Given the description of an element on the screen output the (x, y) to click on. 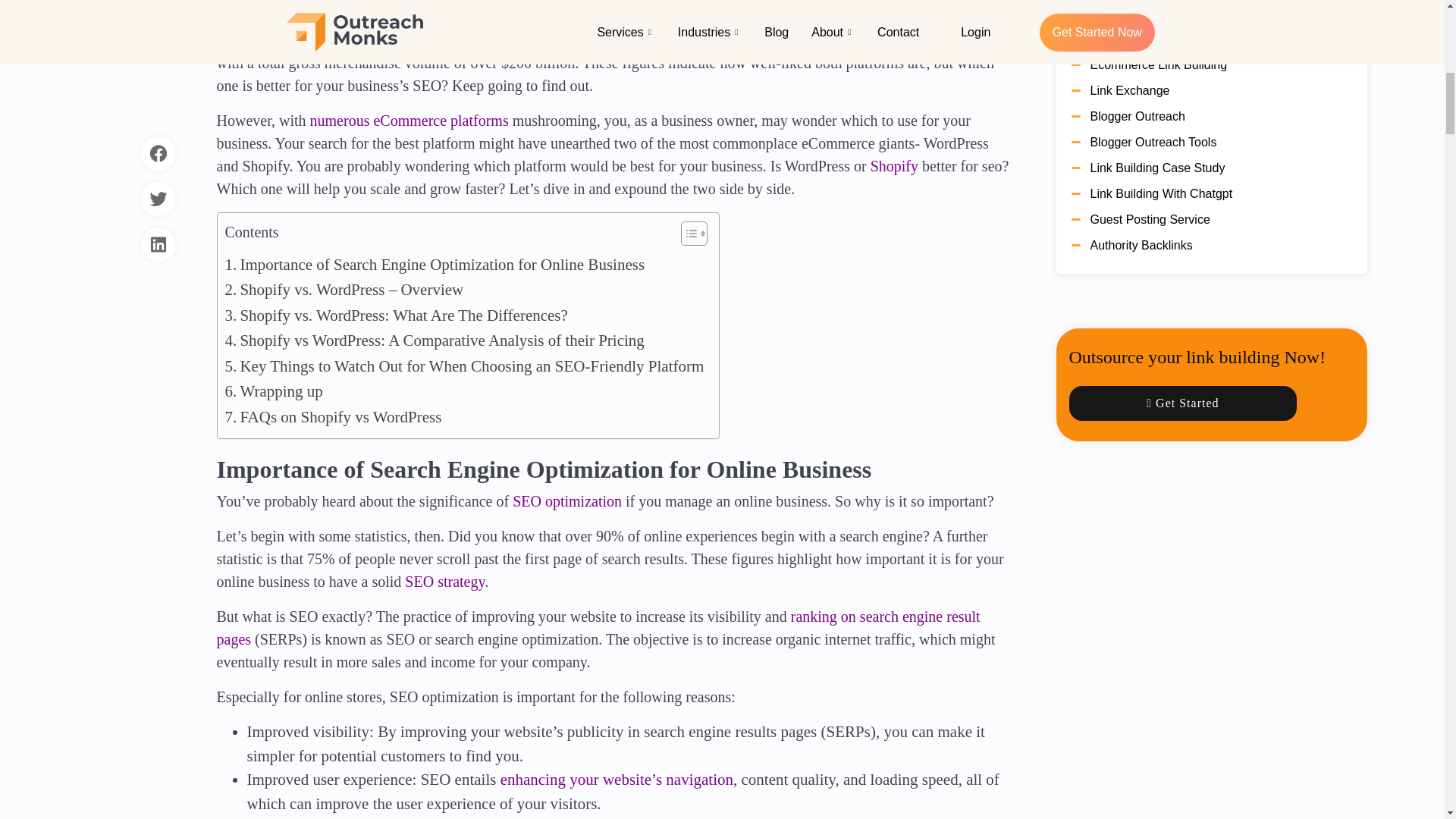
Importance of Search Engine Optimization for Online Business (434, 265)
FAQs on Shopify vs WordPress (332, 417)
Shopify vs. WordPress: What Are The Differences? (395, 316)
Wrapping up (272, 391)
